Given the description of an element on the screen output the (x, y) to click on. 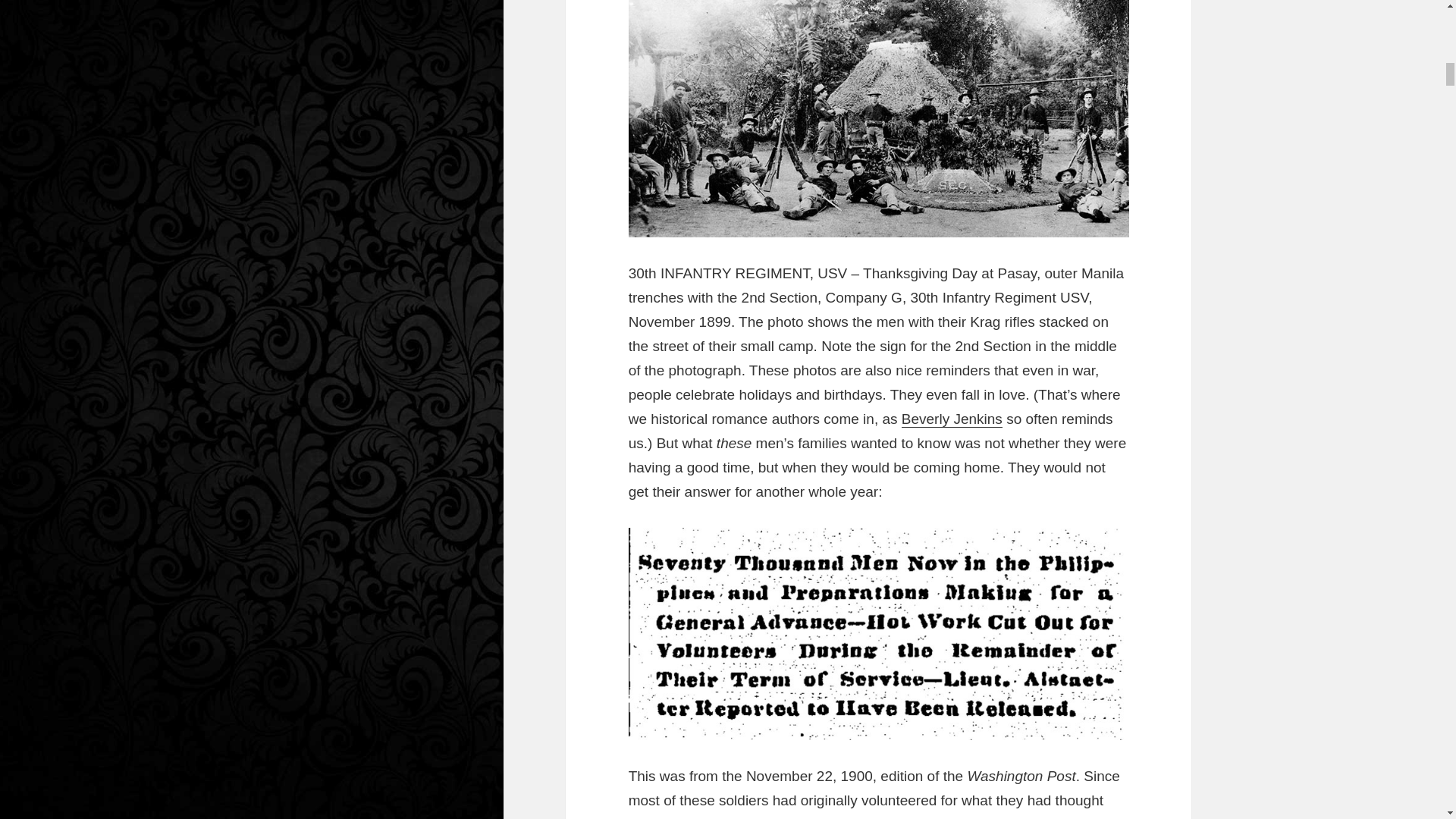
Beverly Jenkins (952, 419)
